Given the description of an element on the screen output the (x, y) to click on. 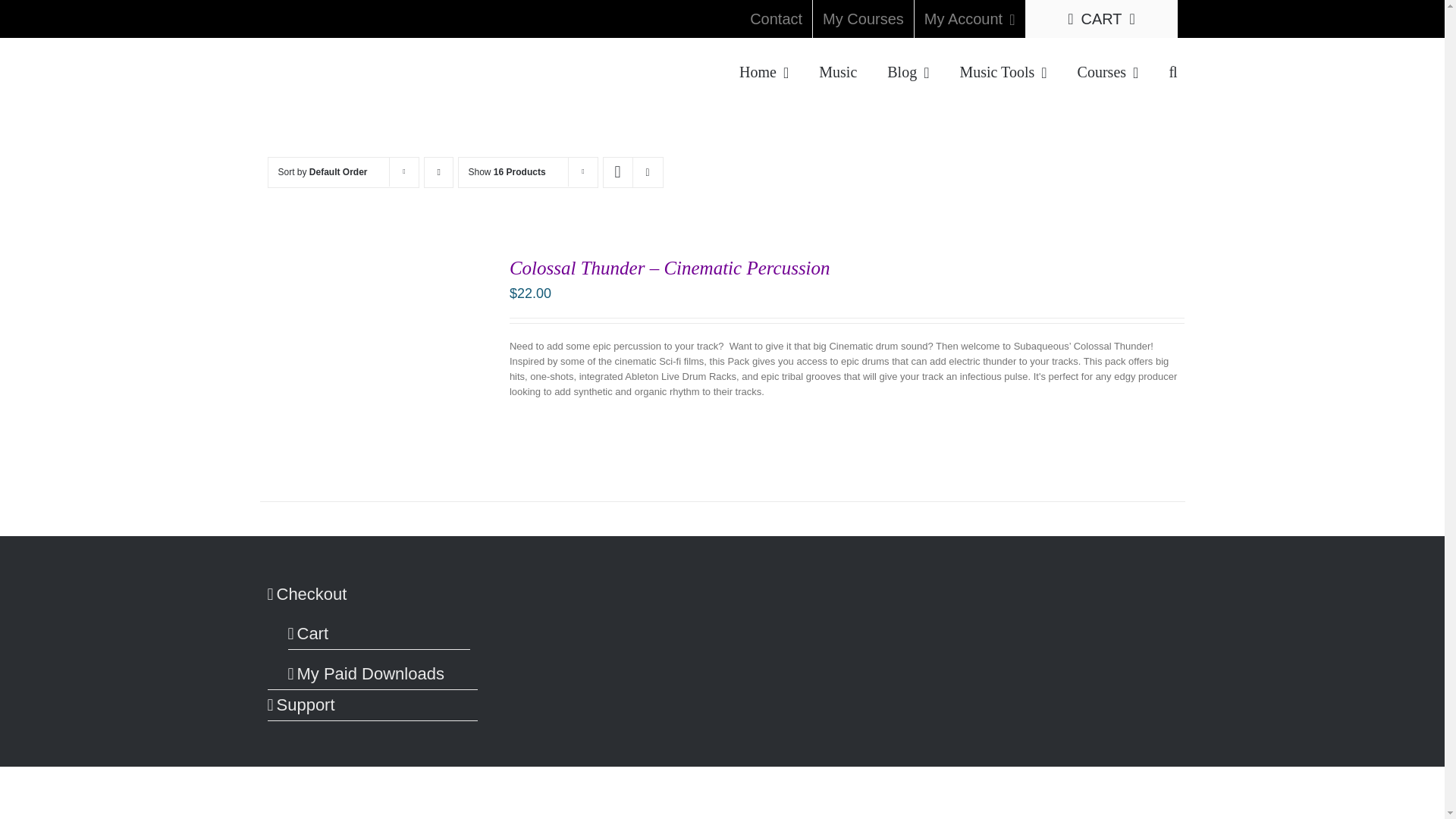
My Courses (863, 18)
Sort by Default Order (322, 172)
CART (1100, 18)
Courses (1107, 70)
My Account (969, 18)
Music Tools (1002, 70)
Contact (775, 18)
Log In (1016, 162)
